Given the description of an element on the screen output the (x, y) to click on. 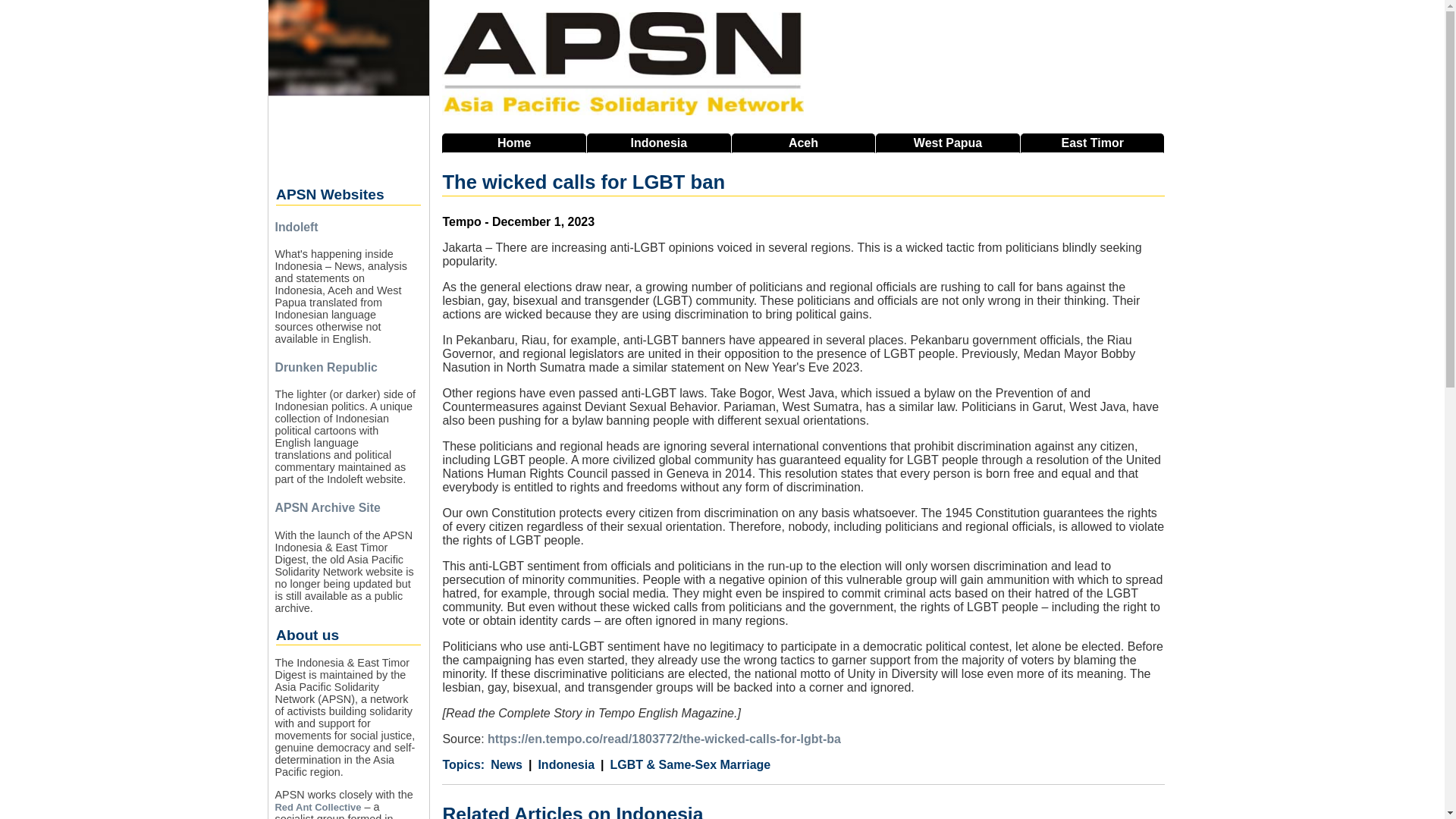
Indoleft (296, 226)
Drunken Republic (326, 367)
Home (514, 143)
East Timor (1092, 143)
Indonesia (658, 143)
Indonesia (561, 765)
West Papua (948, 143)
News (506, 765)
Aceh (804, 143)
